Given the description of an element on the screen output the (x, y) to click on. 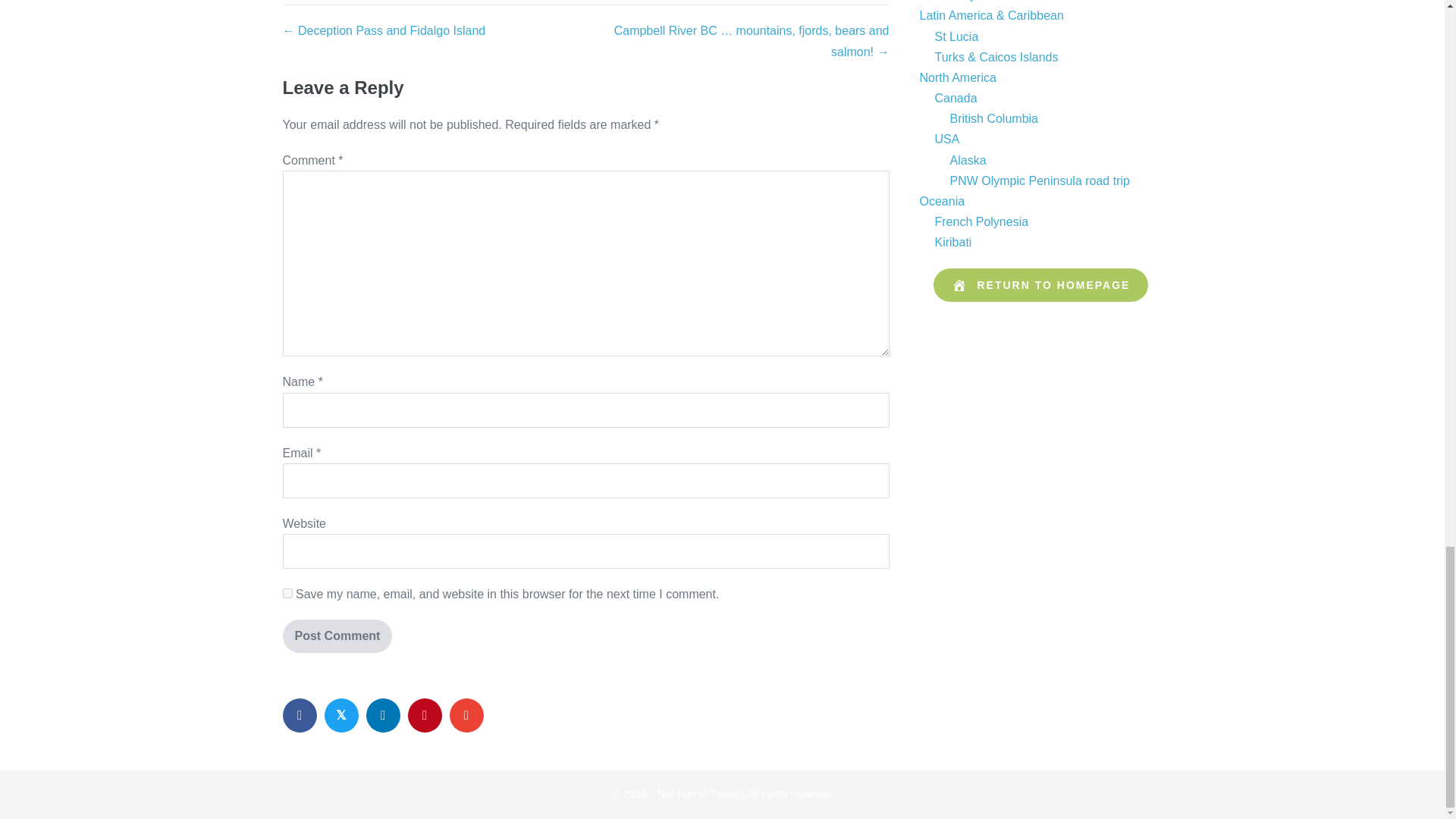
yes (287, 593)
Post Comment (336, 635)
Post Comment (336, 635)
